Given the description of an element on the screen output the (x, y) to click on. 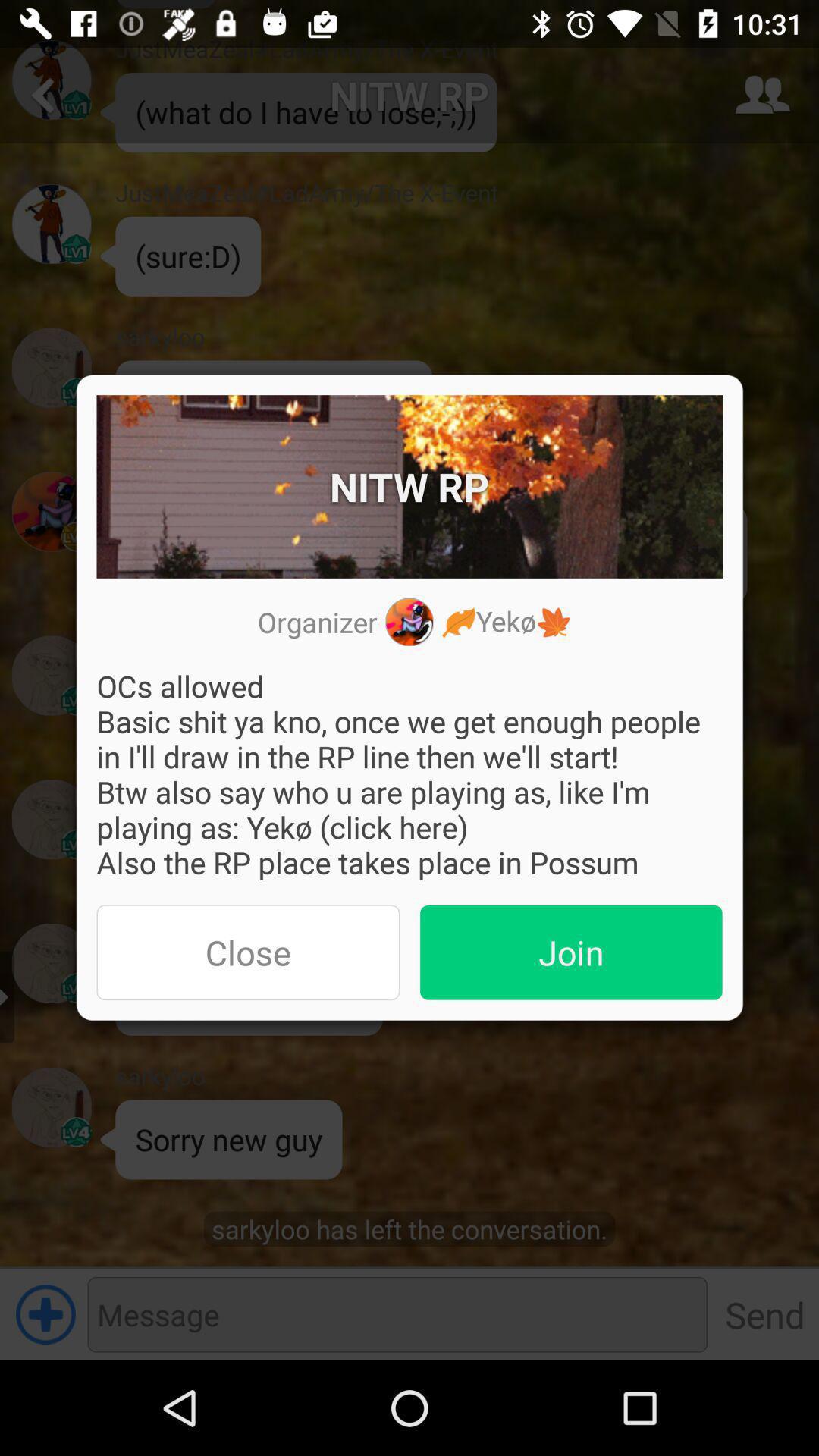
turn on the app below ocs allowed basic (247, 952)
